Given the description of an element on the screen output the (x, y) to click on. 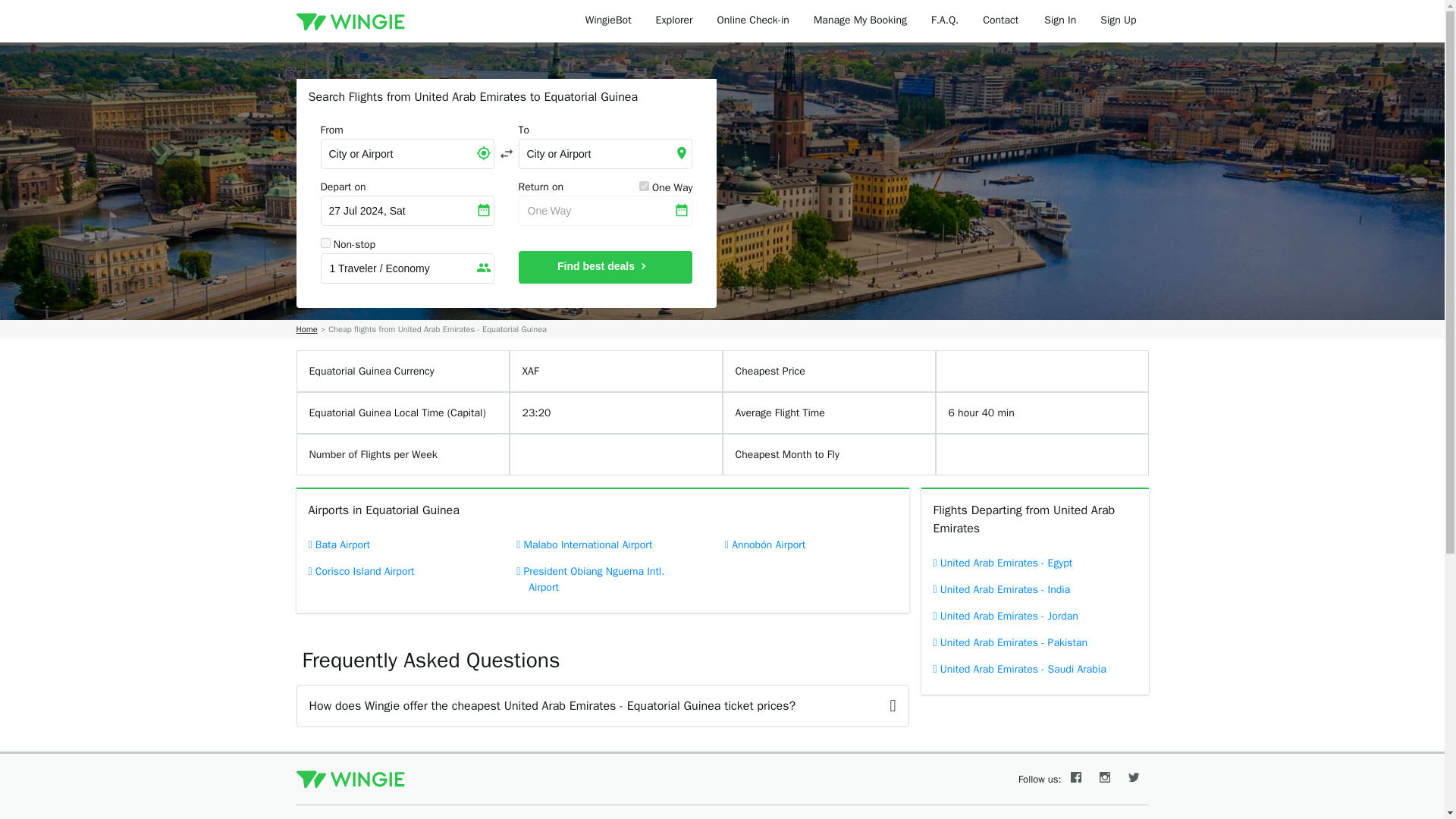
Manage My Booking (860, 21)
Facebook (1075, 779)
Home (306, 328)
false (325, 243)
United Arab Emirates - India (1034, 589)
Sign In (1059, 21)
Instagram (1104, 779)
Bata Airport (393, 544)
One Way (605, 210)
Malabo International Airport (601, 544)
Contact (1000, 21)
WingieBot (608, 21)
Top Destinations (325, 818)
Online Check-in (753, 21)
United Arab Emirates - Egypt (1034, 562)
